Given the description of an element on the screen output the (x, y) to click on. 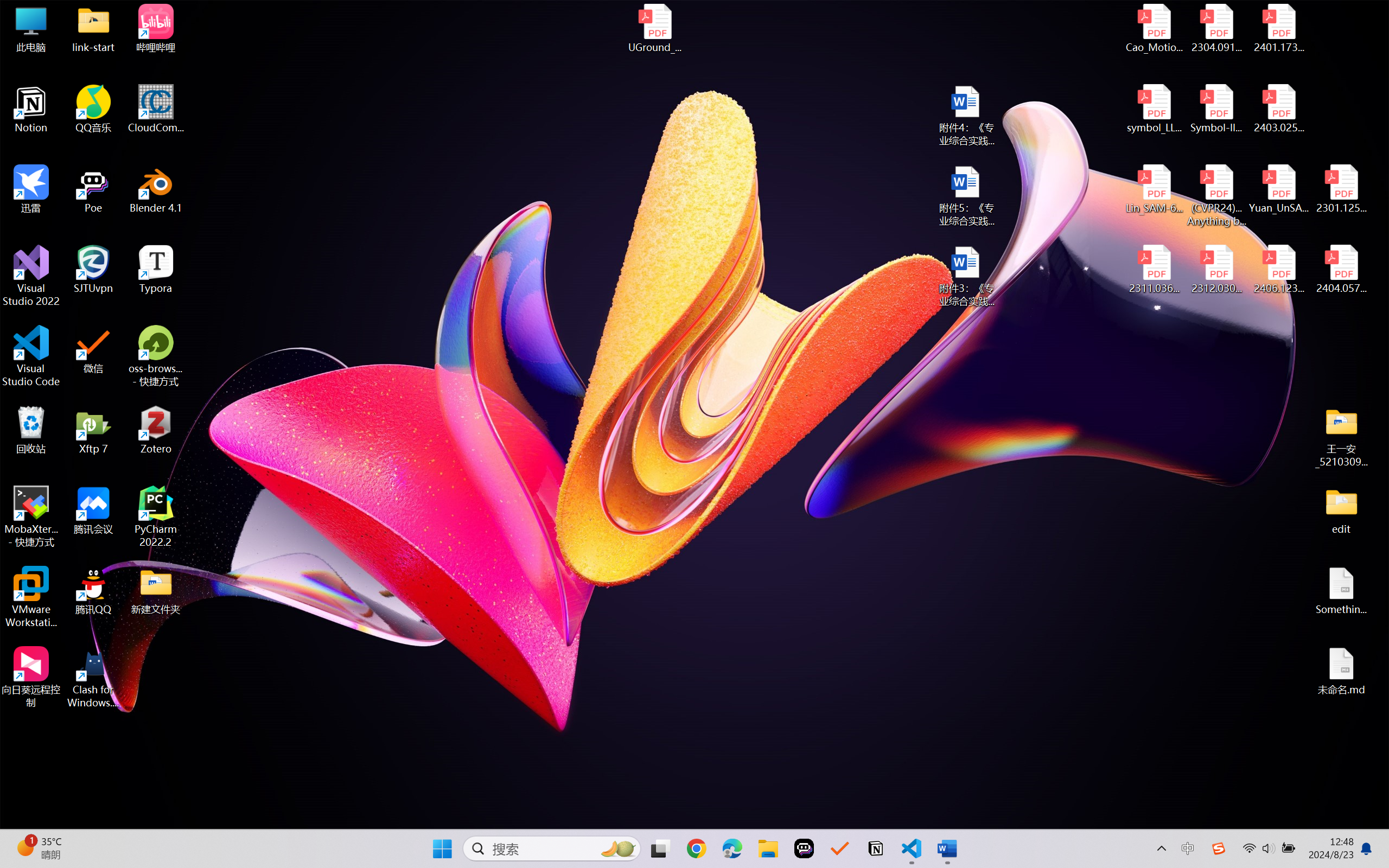
2301.12597v3.pdf (1340, 189)
2312.03032v2.pdf (1216, 269)
